Given the description of an element on the screen output the (x, y) to click on. 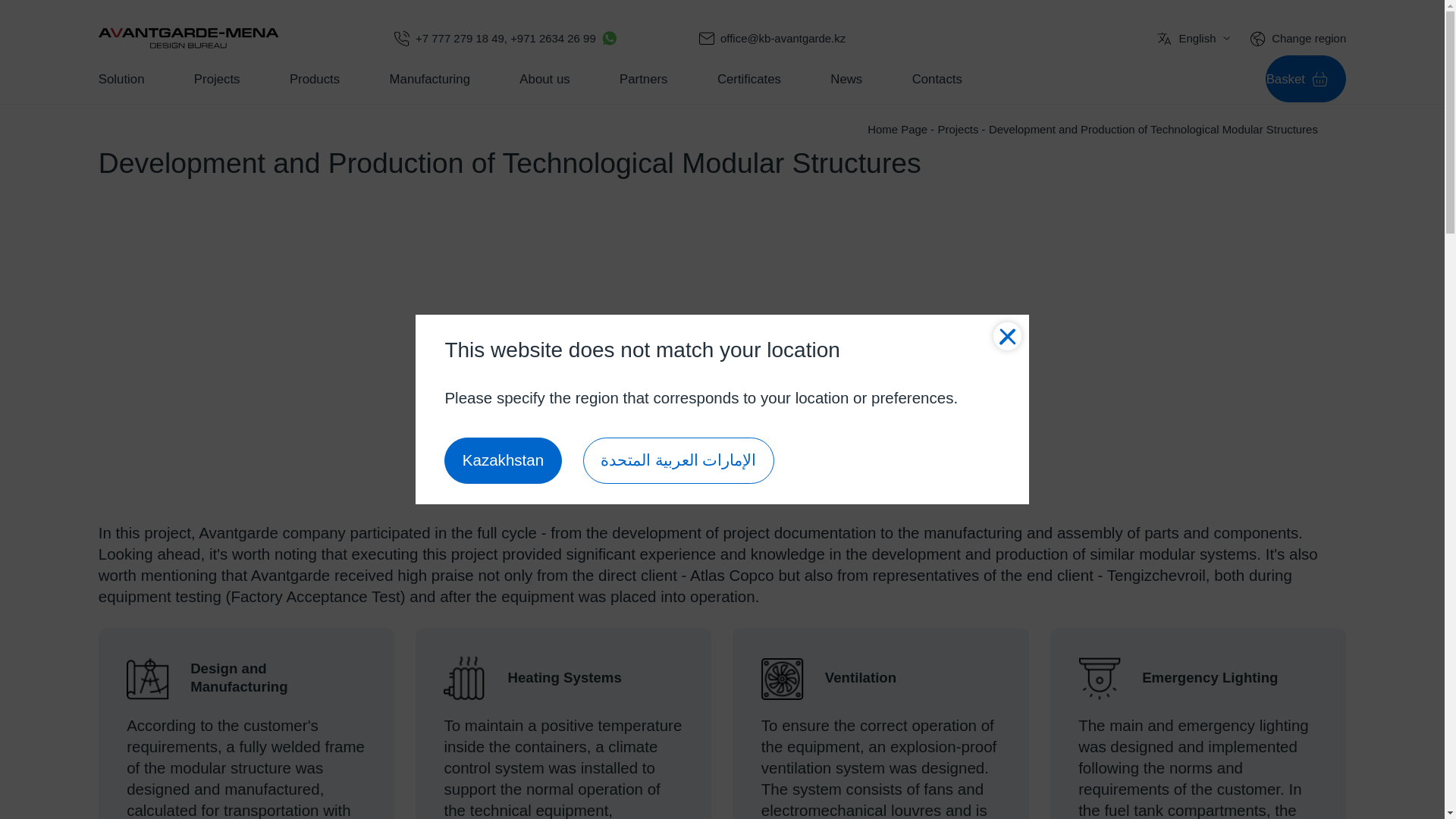
Heating Systems (465, 678)
Contacts (937, 78)
Certificates (748, 78)
Change region (1308, 37)
Ventilation (782, 678)
Manufacturing (430, 78)
Design and Manufacturing (147, 678)
Design Bureau - Avantgarde (189, 37)
Basket (1305, 78)
About us (544, 78)
Partners (643, 78)
Projects (216, 78)
Emergency Lighting (1099, 678)
